Given the description of an element on the screen output the (x, y) to click on. 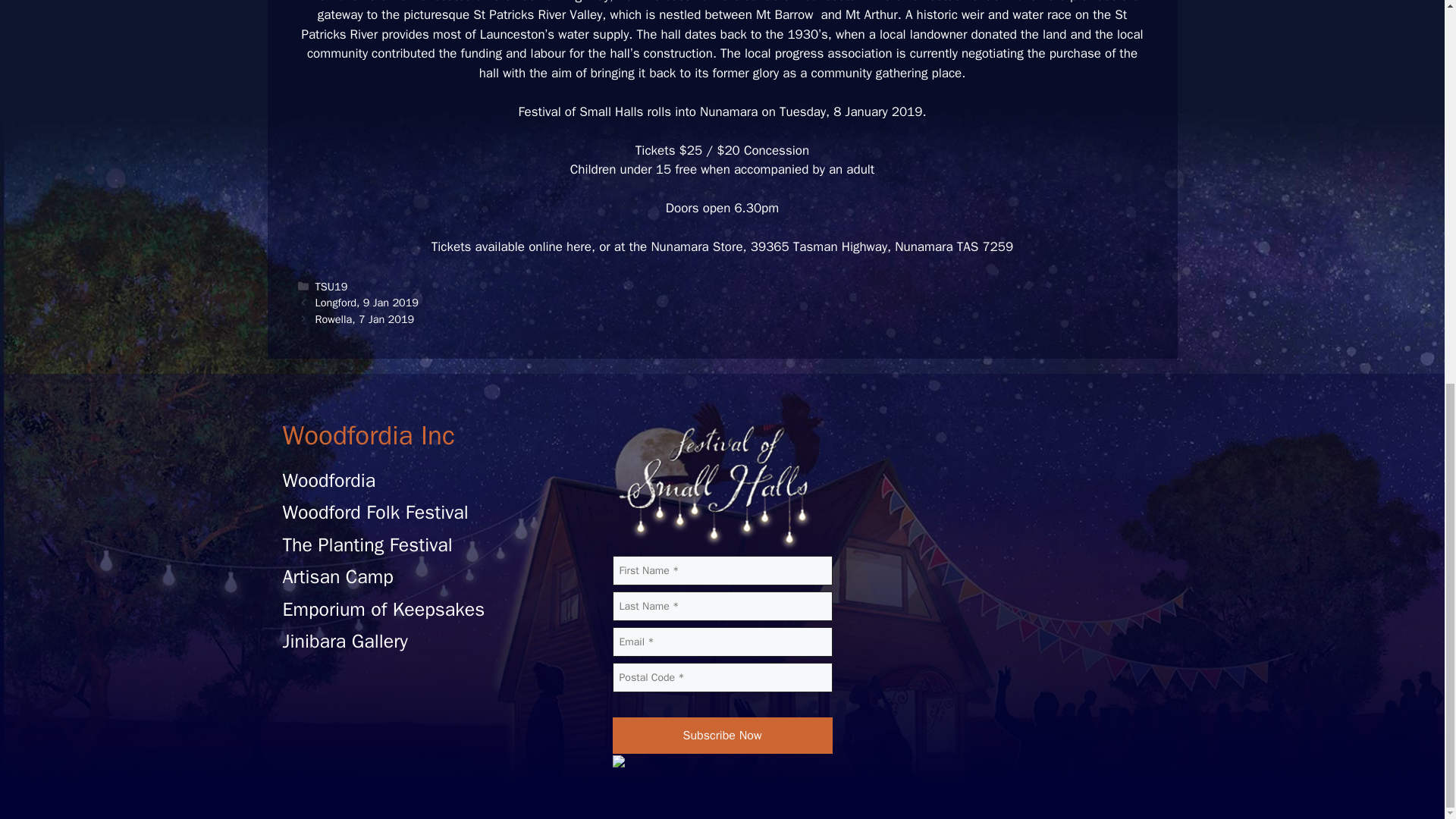
Woodfordia (328, 480)
The Planting Festival (366, 544)
Jinibara Gallery (344, 640)
TSU19 (331, 286)
Subscribe Now (722, 735)
Longford, 9 Jan 2019 (367, 302)
Rowella, 7 Jan 2019 (364, 318)
Emporium of Keepsakes (383, 608)
Woodford Folk Festival (374, 512)
here (578, 246)
